Given the description of an element on the screen output the (x, y) to click on. 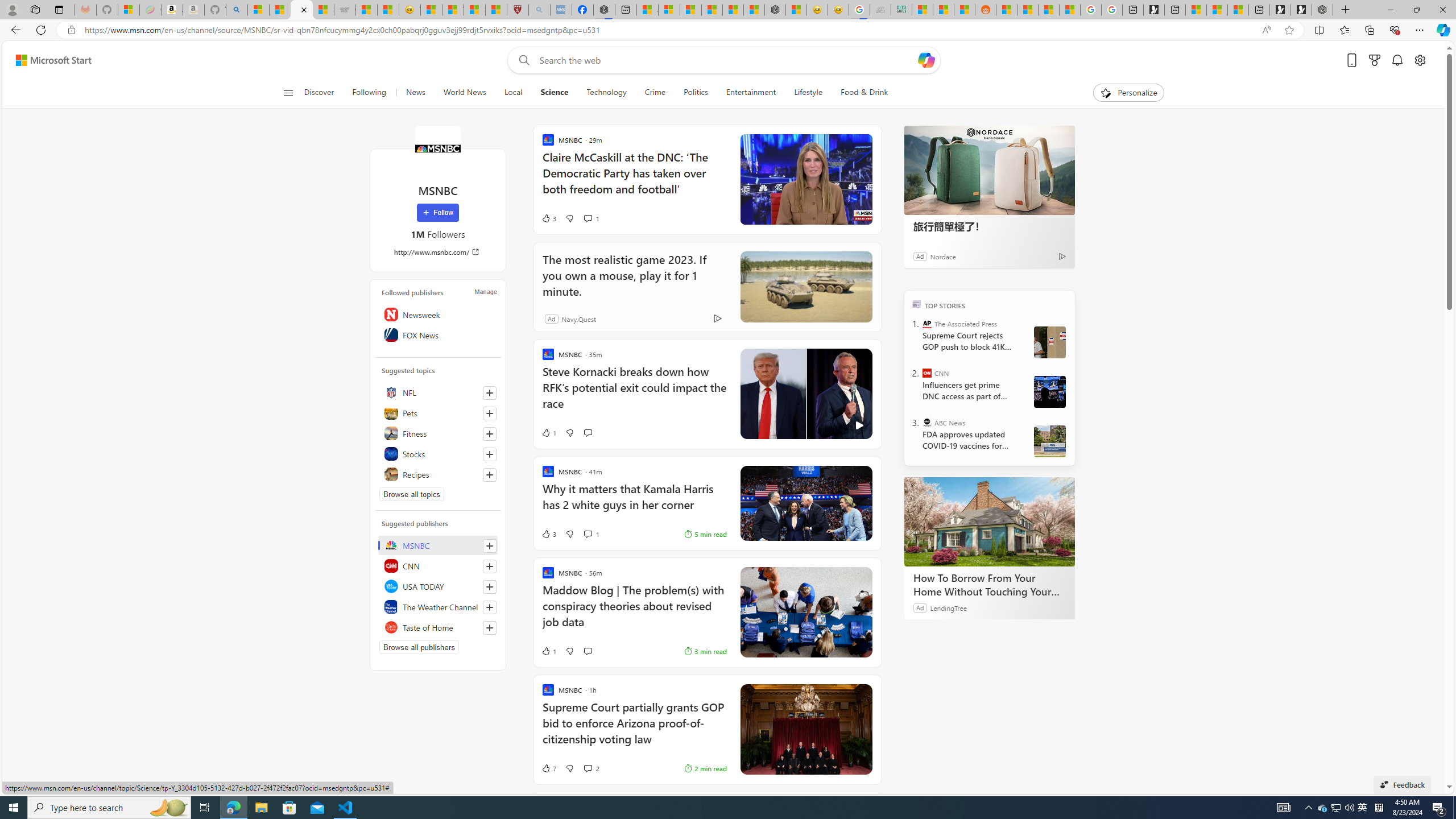
Follow this topic (489, 474)
Skip to footer (46, 59)
Microsoft Start Gaming (1153, 9)
Open settings (1420, 60)
CNN (927, 372)
